Given the description of an element on the screen output the (x, y) to click on. 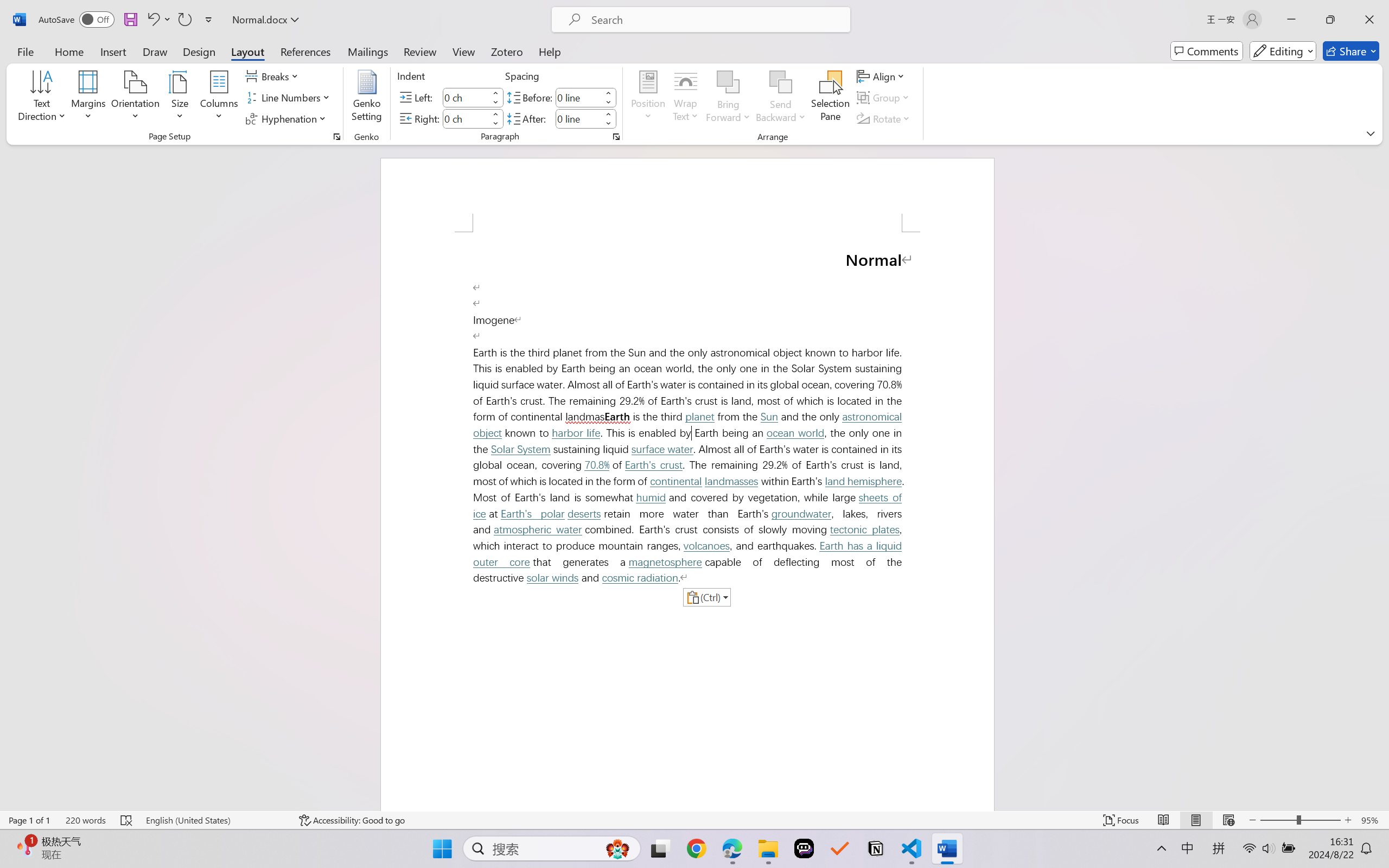
Page 1 content (687, 521)
Spacing Before (578, 96)
harbor life (575, 433)
Header -Section 1- (687, 194)
humid (650, 497)
Earth has a liquid outer core (690, 554)
70.8% (596, 465)
continental (675, 480)
Class: MsoCommandBar (694, 819)
